Given the description of an element on the screen output the (x, y) to click on. 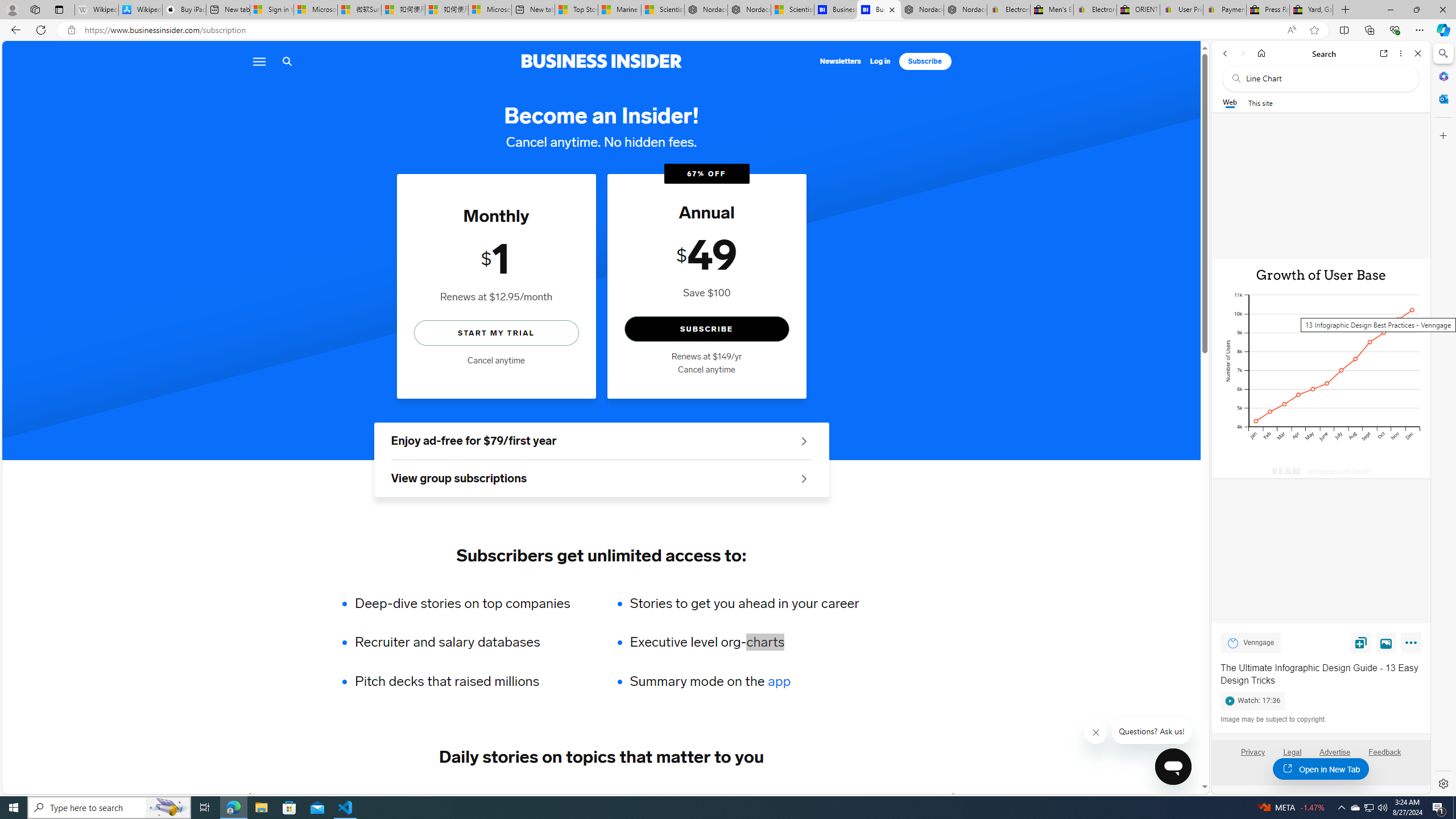
Close message from company (1096, 732)
Log in (880, 61)
Executive level org-charts (743, 642)
